Given the description of an element on the screen output the (x, y) to click on. 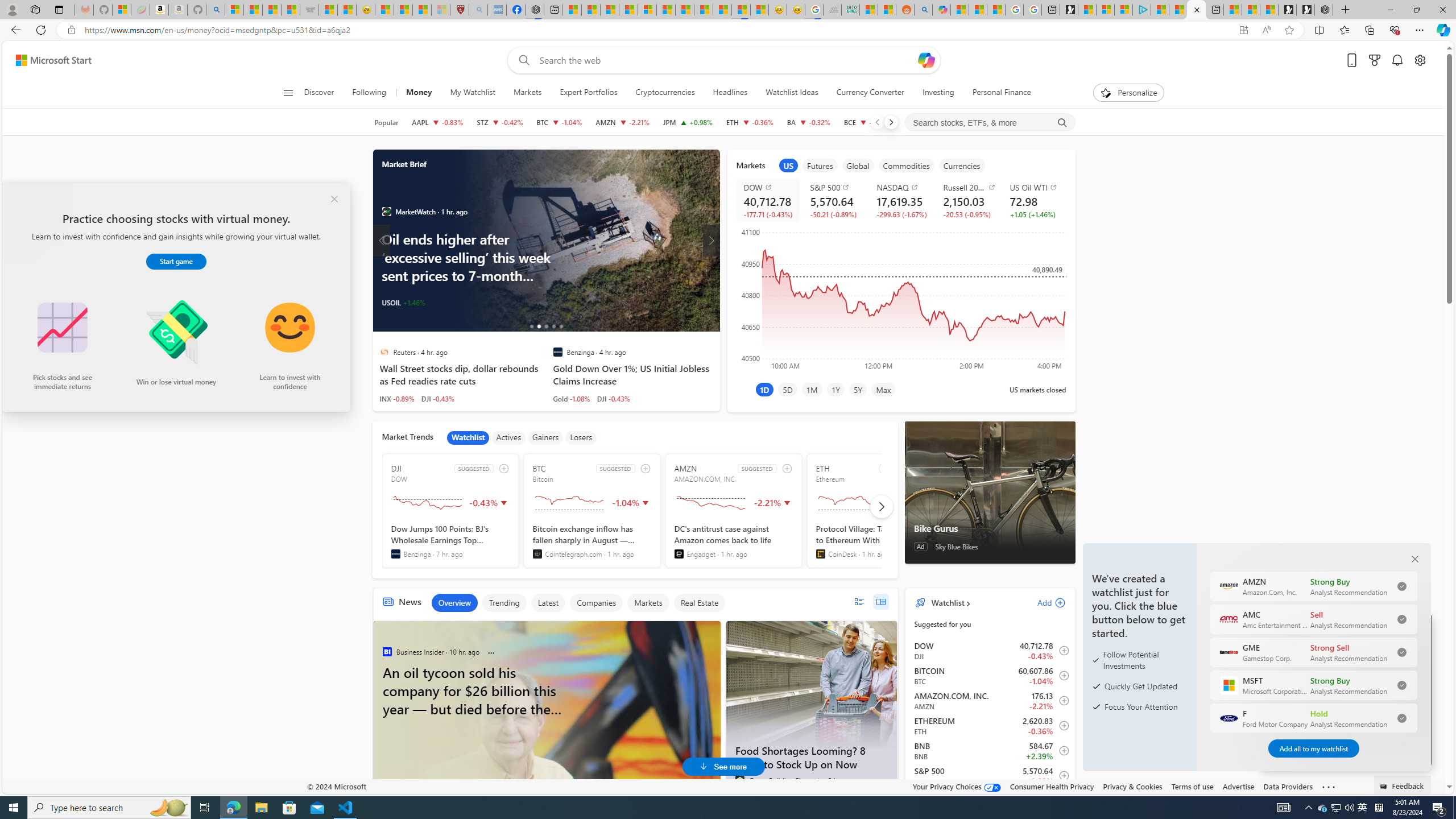
STZ CONSTELLATION BRANDS, INC. decrease 243.70 -1.04 -0.42% (499, 122)
INX -0.89% (397, 397)
Watchlist (467, 437)
Oil edges higher after back-to-back weekly gains (586, 240)
Latest (546, 602)
